Given the description of an element on the screen output the (x, y) to click on. 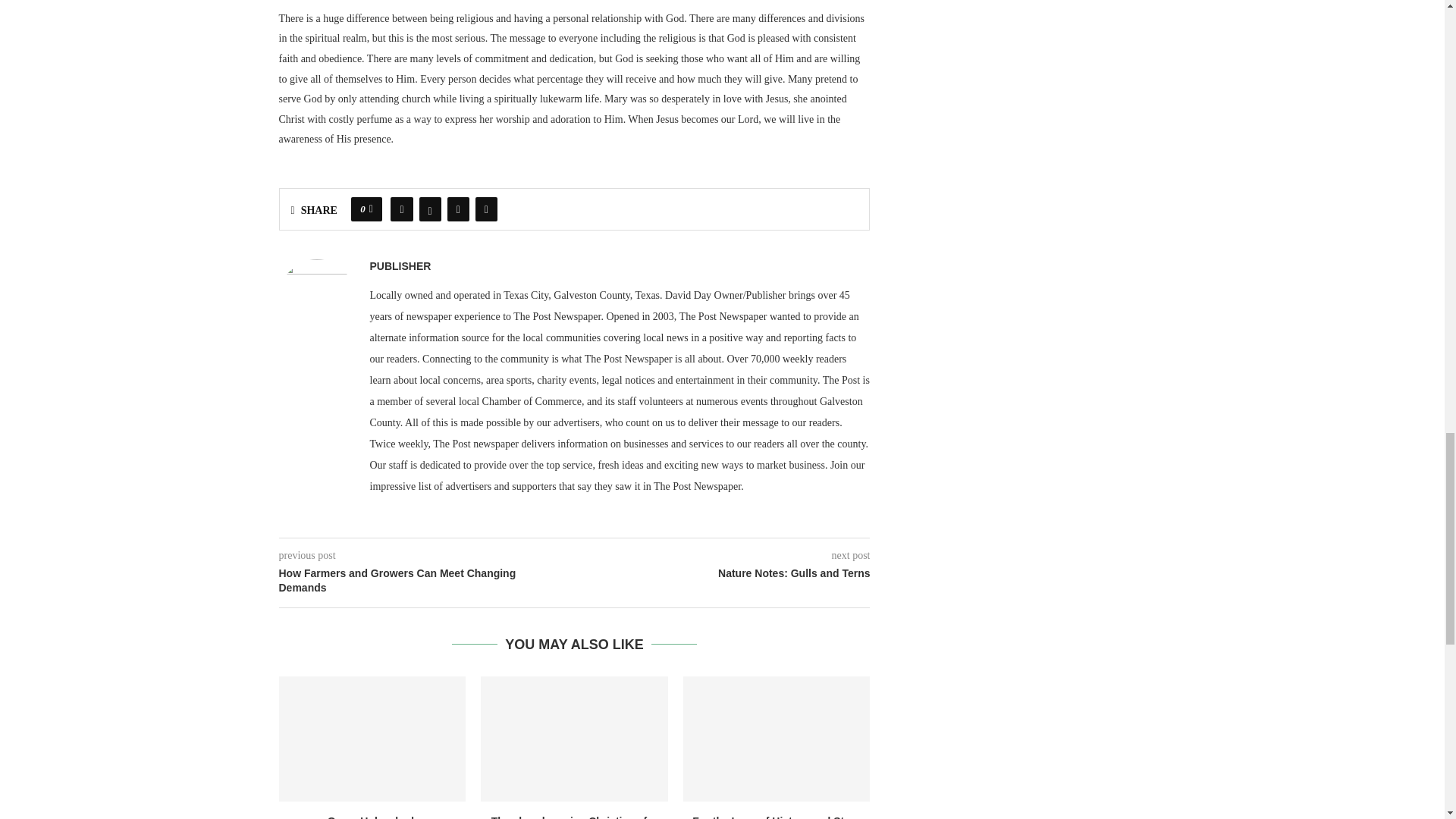
Like (370, 209)
The church equips Christians for ministry (574, 738)
Author Publisher (399, 266)
